Given the description of an element on the screen output the (x, y) to click on. 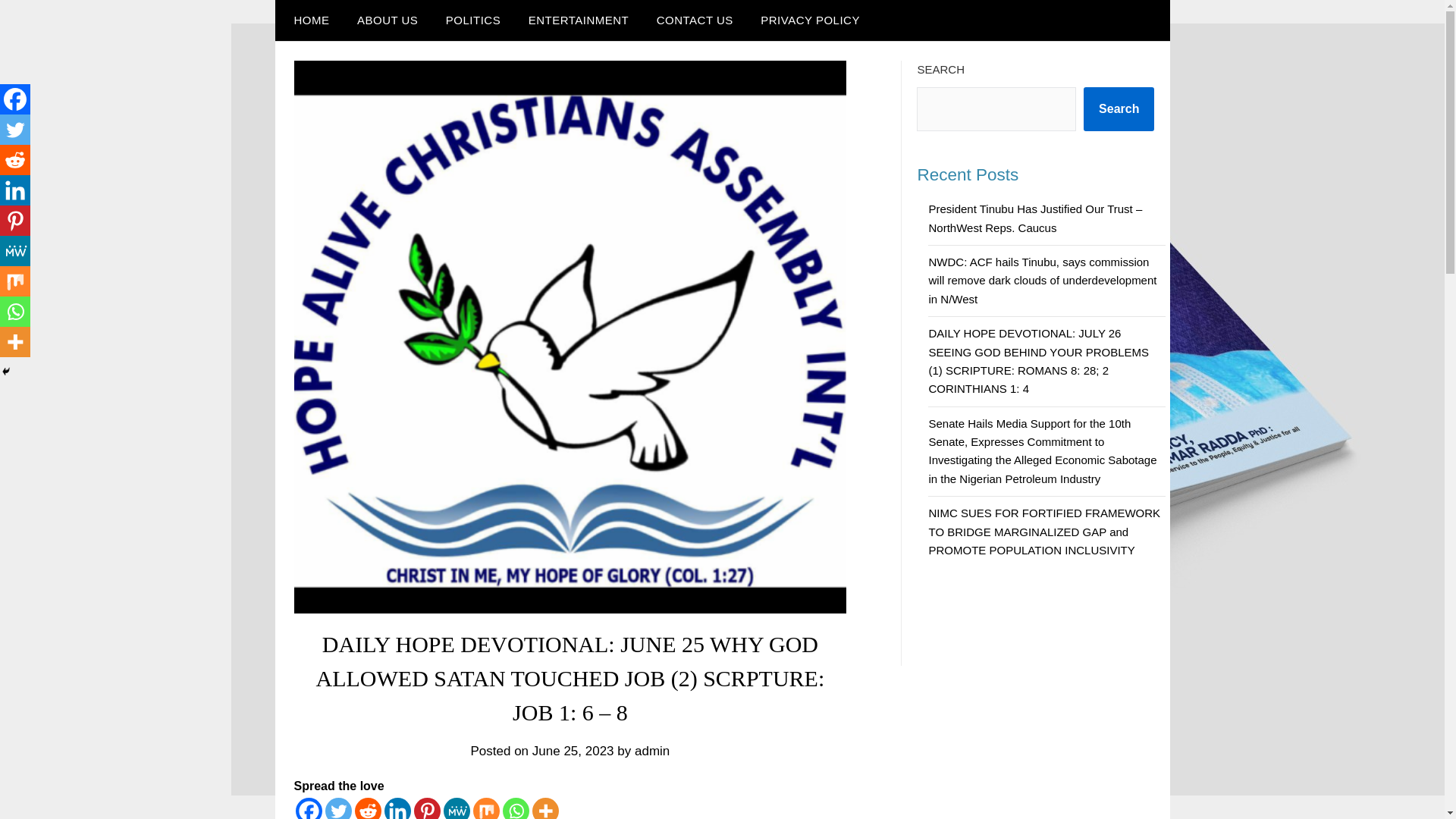
MeWe (455, 808)
Linkedin (397, 808)
More (545, 808)
Facebook (308, 808)
admin (651, 750)
POLITICS (472, 20)
Search (1118, 108)
Whatsapp (515, 808)
Twitter (337, 808)
June 25, 2023 (573, 750)
Pinterest (427, 808)
Reddit (368, 808)
ENTERTAINMENT (579, 20)
CONTACT US (695, 20)
HOME (307, 20)
